Given the description of an element on the screen output the (x, y) to click on. 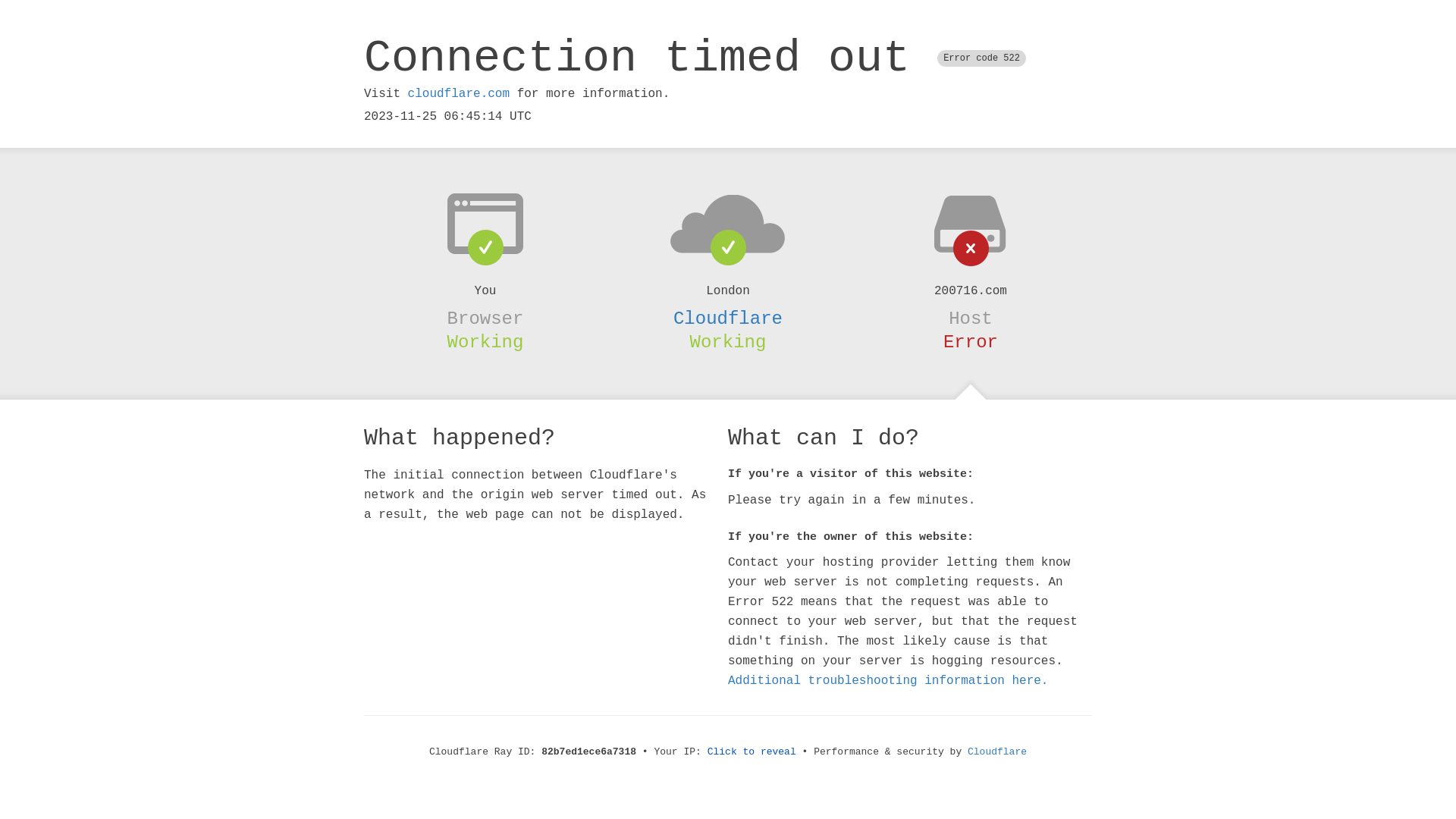
cloudflare.com Element type: text (458, 93)
Cloudflare Element type: text (727, 318)
Cloudflare Element type: text (996, 751)
Click to reveal Element type: text (751, 751)
Additional troubleshooting information here. Element type: text (888, 680)
